Given the description of an element on the screen output the (x, y) to click on. 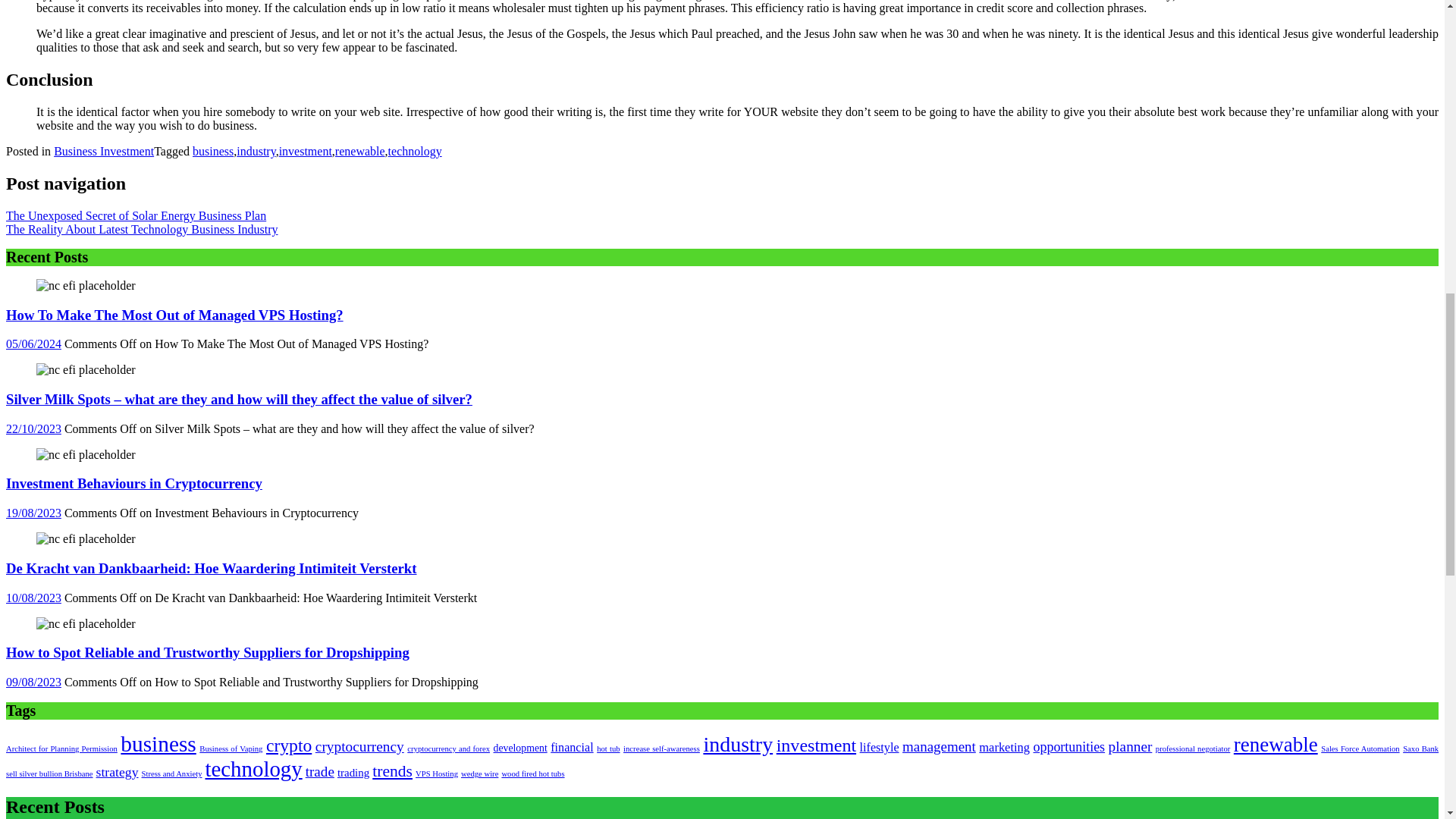
industry (255, 151)
business (212, 151)
Investment Behaviours in Cryptocurrency (85, 454)
How To Make The Most Out of Managed VPS Hosting? (85, 285)
investment (305, 151)
Business Investment (103, 151)
